Given the description of an element on the screen output the (x, y) to click on. 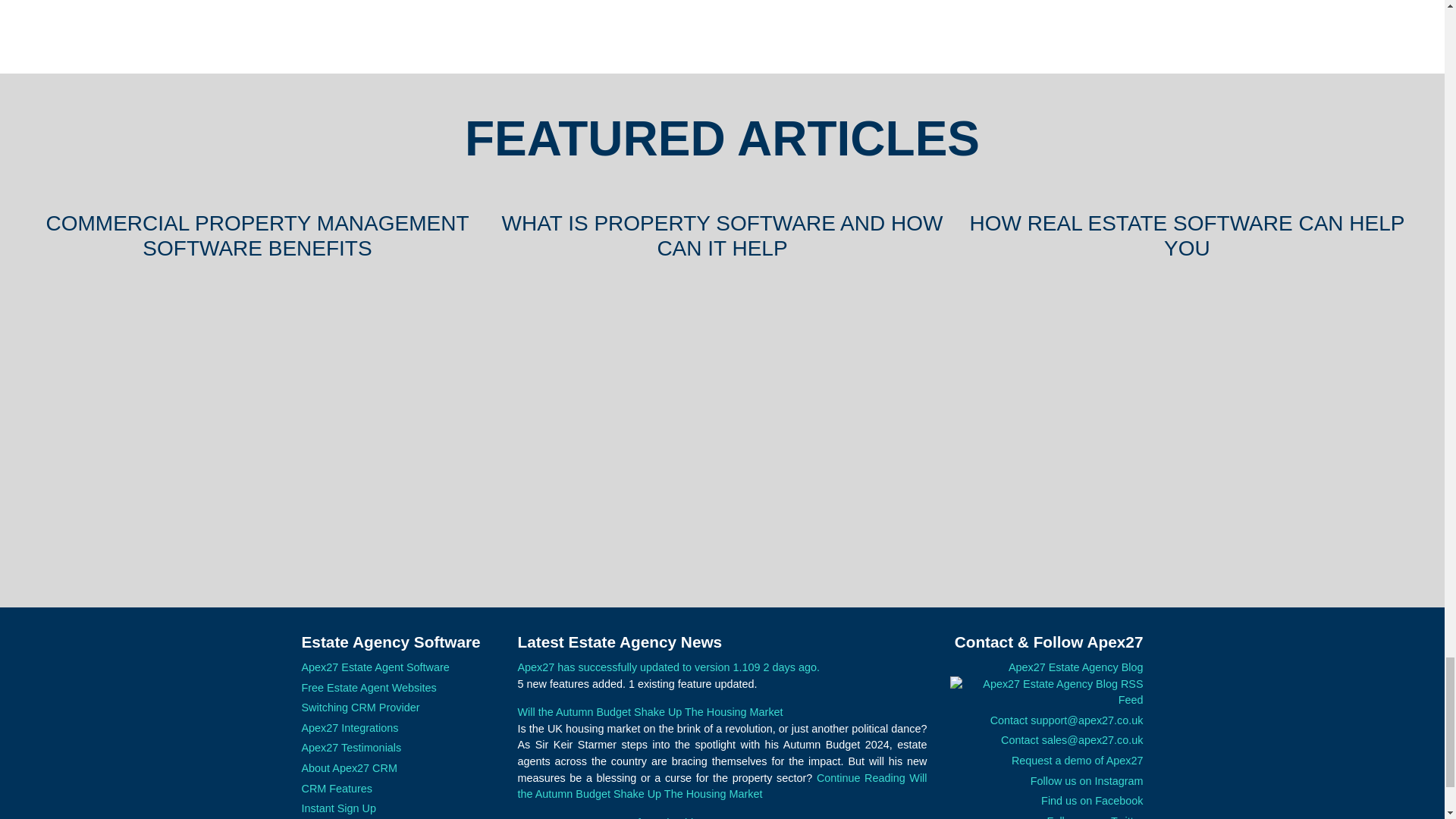
Free Estate Agent Websites (368, 687)
Real Estate Software (1186, 418)
Apex27 Integrations (349, 727)
Property Software (721, 418)
Switching CRM Provider (360, 707)
Apex27 Estate Agent Software (375, 666)
Apex27 Testimonials (351, 747)
Software for Commercial Property Management (257, 418)
